Given the description of an element on the screen output the (x, y) to click on. 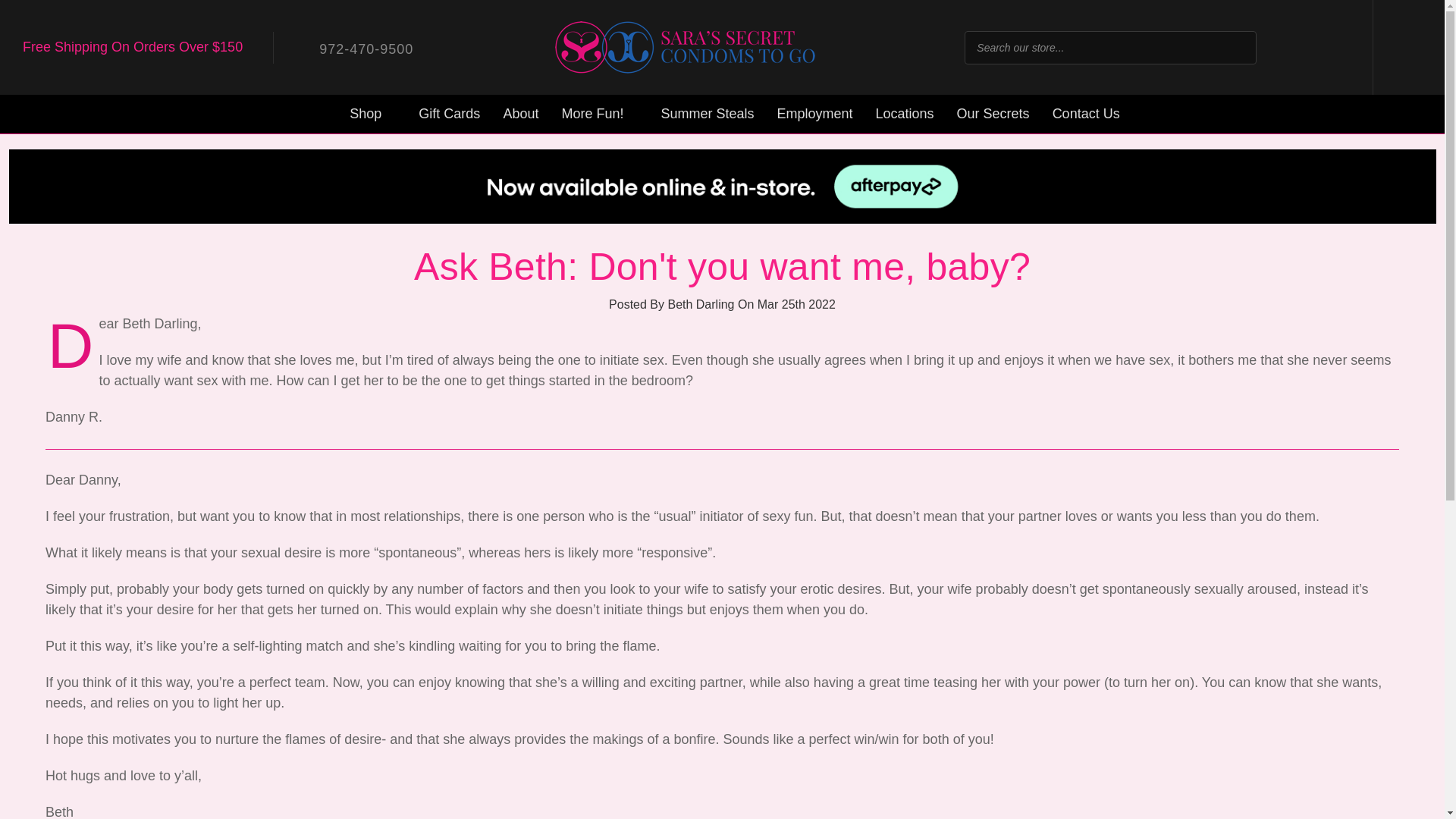
USER (1333, 46)
Shop (372, 113)
Sara's Secret (686, 46)
Compare (1286, 46)
COMPARE (1286, 46)
972-470-9500 (355, 46)
SEARCH (1235, 46)
